Given the description of an element on the screen output the (x, y) to click on. 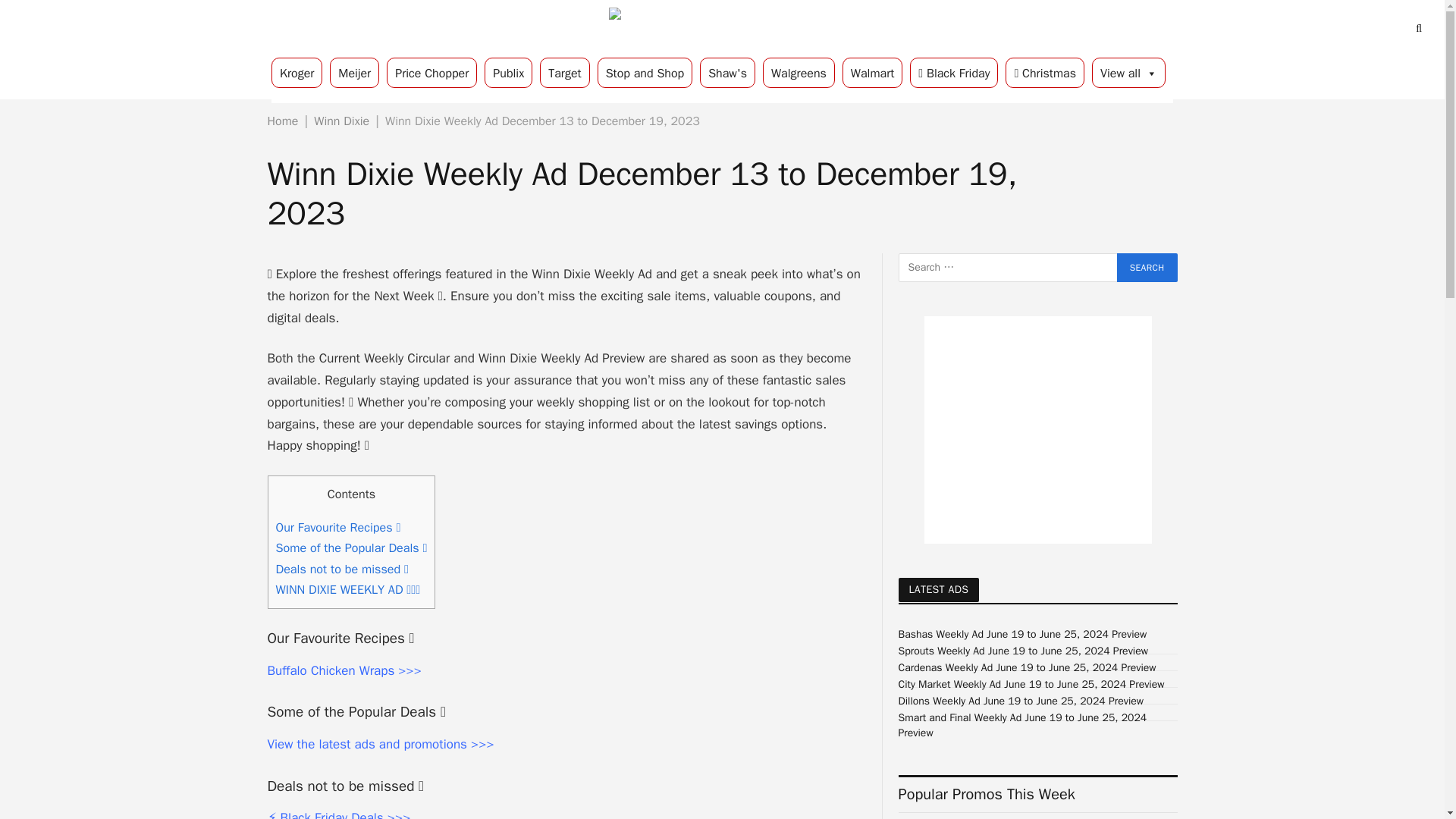
Weekly Ad Shop (721, 28)
Search (1146, 267)
Search (1146, 267)
